Given the description of an element on the screen output the (x, y) to click on. 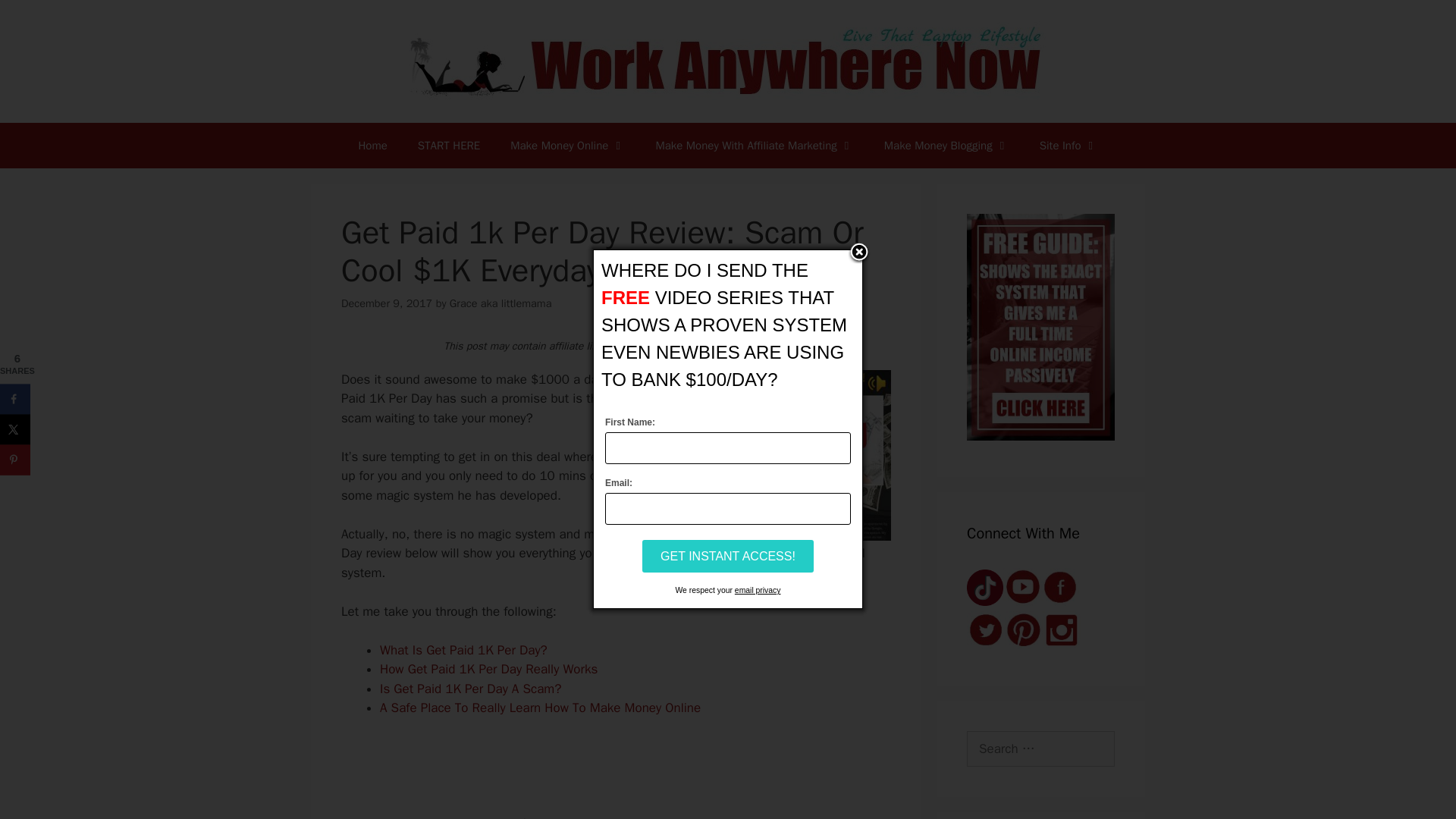
Make Money With Affiliate Marketing (753, 145)
Home (371, 145)
View all posts by Grace aka littlemama (500, 303)
GET INSTANT ACCESS! (727, 555)
Make Money Blogging (947, 145)
Search for: (1040, 749)
Share on X (15, 429)
Make Money Online (567, 145)
WorkAnywhereNow.com (727, 59)
Privacy Policy (757, 590)
WorkAnywhereNow.com (727, 61)
Save to Pinterest (15, 459)
START HERE (449, 145)
Share on Facebook (15, 399)
Site Info (1069, 145)
